Given the description of an element on the screen output the (x, y) to click on. 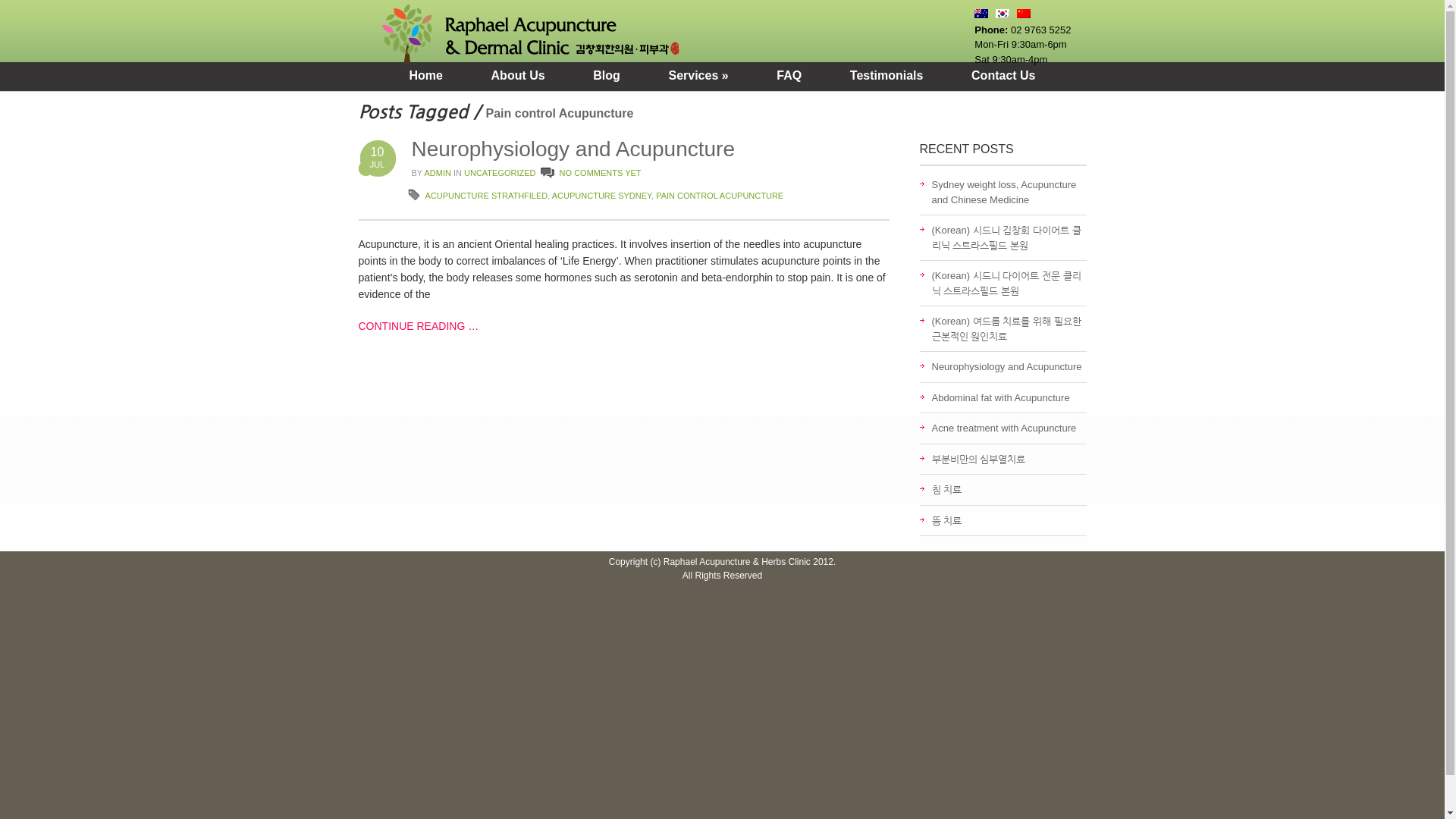
About Us Element type: text (517, 75)
Chinese (ZH) Element type: hover (1023, 14)
Acne treatment with Acupuncture Element type: text (1003, 427)
Neurophysiology and Acupuncture Element type: text (572, 148)
NO COMMENTS YET Element type: text (600, 172)
Abdominal fat with Acupuncture Element type: text (1000, 396)
PAIN CONTROL ACUPUNCTURE Element type: text (719, 195)
Home Element type: text (424, 75)
ACUPUNCTURE STRATHFILED Element type: text (485, 195)
Blog Element type: text (606, 75)
UNCATEGORIZED Element type: text (500, 172)
Neurophysiology and Acupuncture Element type: text (1006, 366)
ADMIN Element type: text (436, 172)
Korean (kr) Element type: hover (1002, 14)
Contact Us Element type: text (1002, 75)
ACUPUNCTURE SYDNEY Element type: text (601, 195)
English (en) Element type: hover (981, 14)
Testimonials Element type: text (886, 75)
Sydney weight loss, Acupuncture and Chinese Medicine Element type: text (1003, 191)
FAQ Element type: text (788, 75)
